Given the description of an element on the screen output the (x, y) to click on. 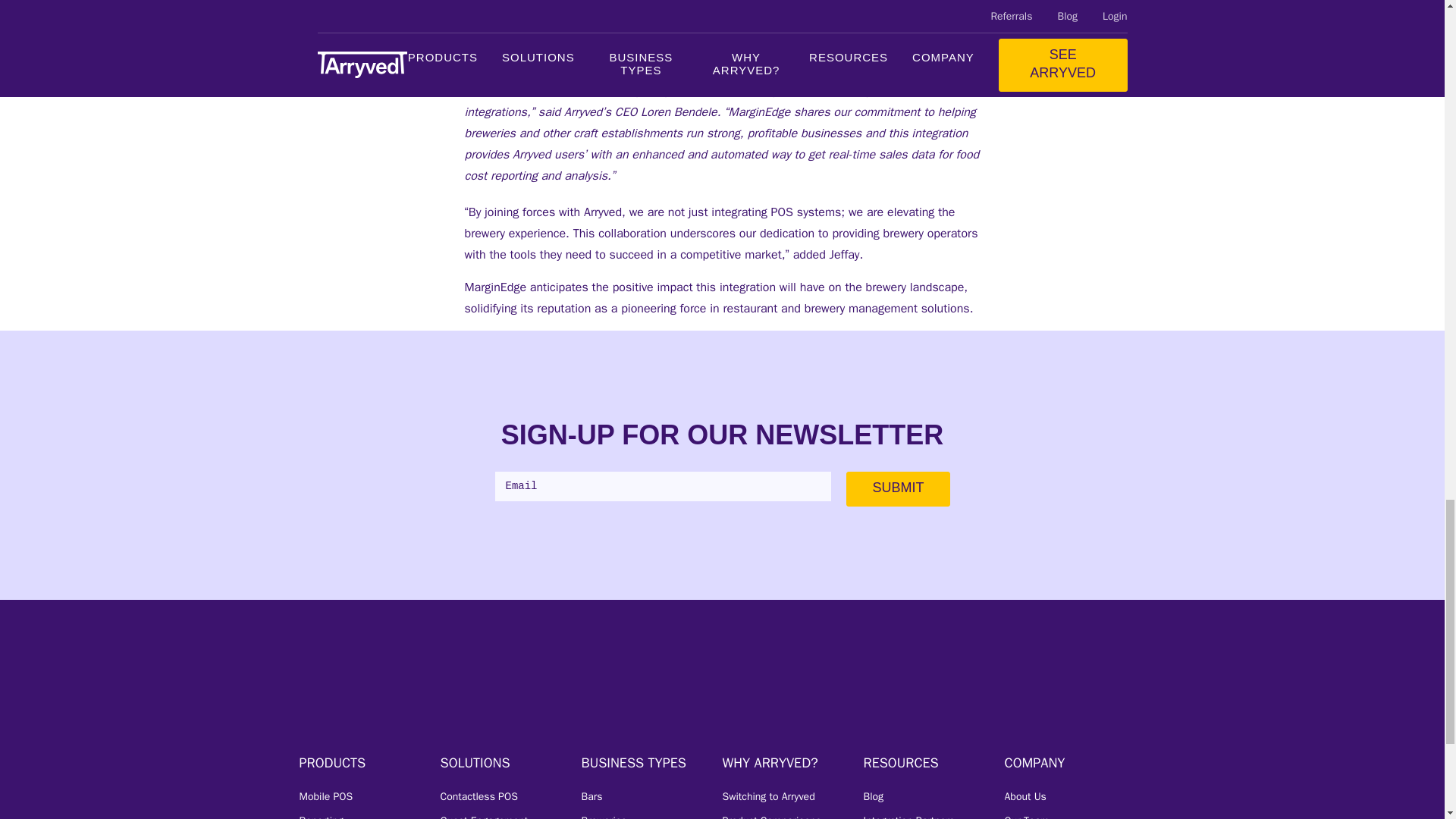
Submit (897, 488)
